Given the description of an element on the screen output the (x, y) to click on. 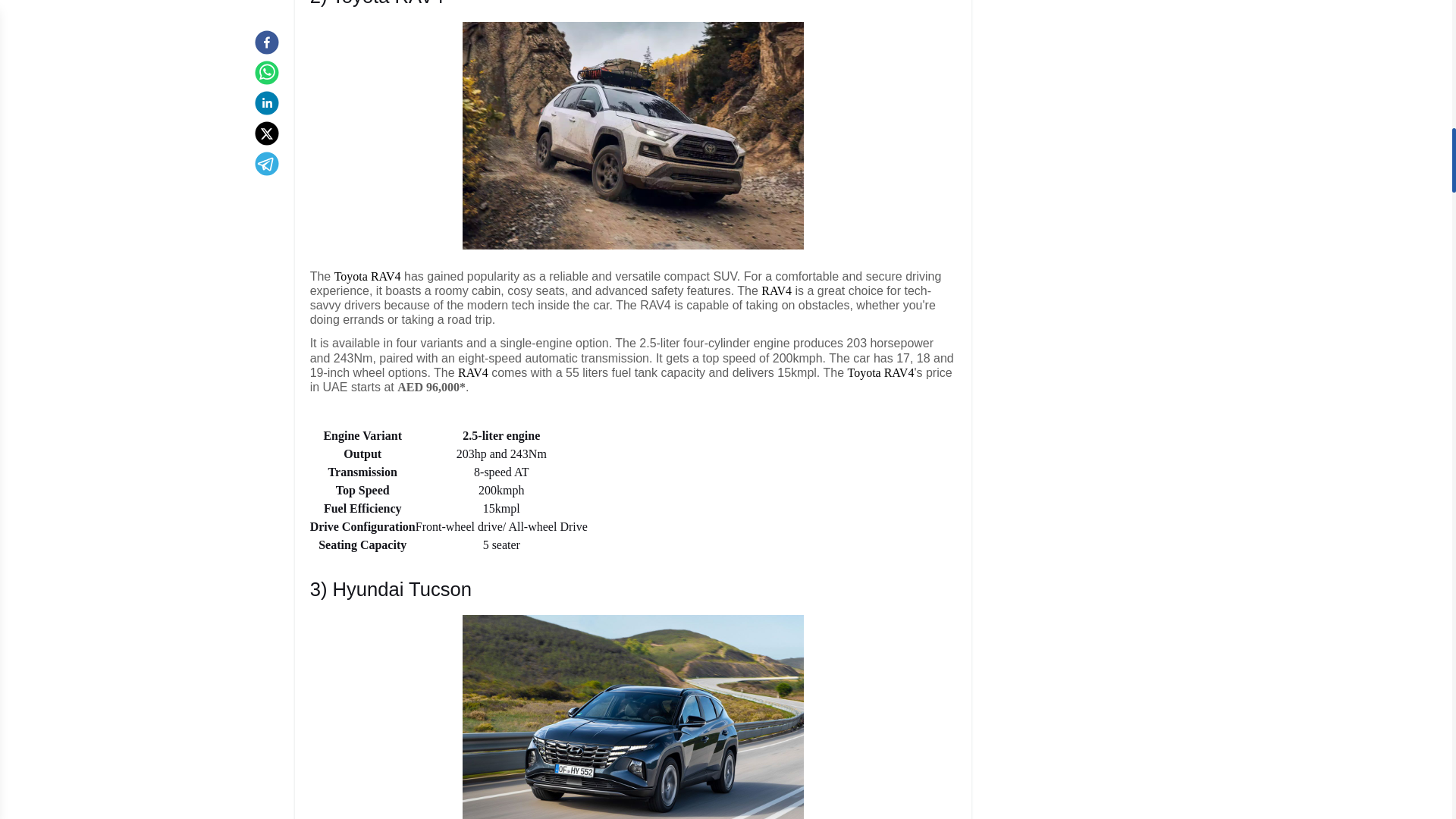
RAV4 (472, 372)
RAV4 (776, 290)
Toyota RAV4 (880, 372)
Toyota RAV4 (367, 276)
